Given the description of an element on the screen output the (x, y) to click on. 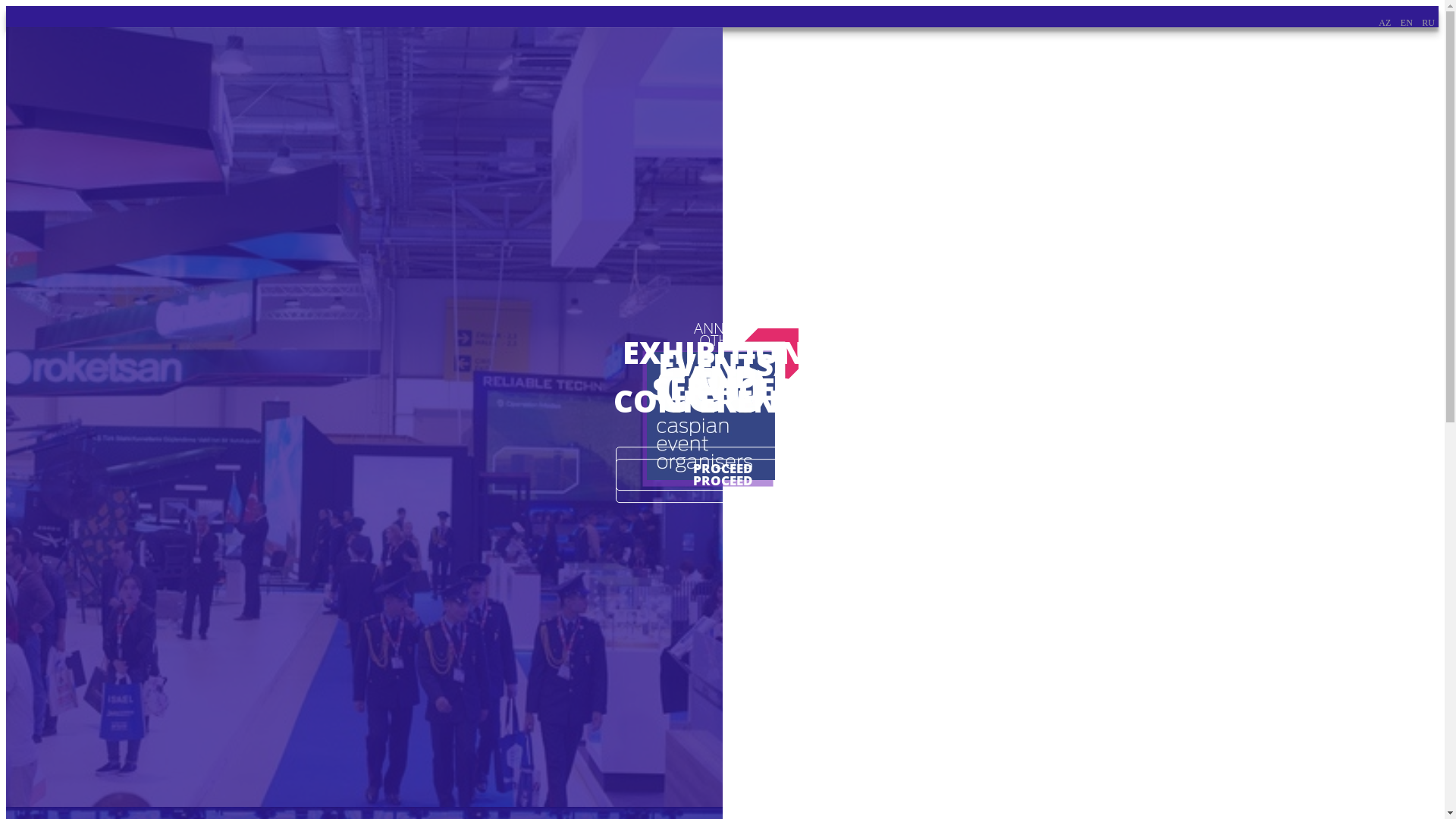
ANNUAL
EXHIBITIONS
AND
CONFERENCES
PROCEED Element type: text (364, 416)
PROCEED Element type: text (721, 468)
EN Element type: text (1406, 22)
PROCEED Element type: text (721, 480)
AZ Element type: text (1384, 22)
RU Element type: text (1427, 22)
